Given the description of an element on the screen output the (x, y) to click on. 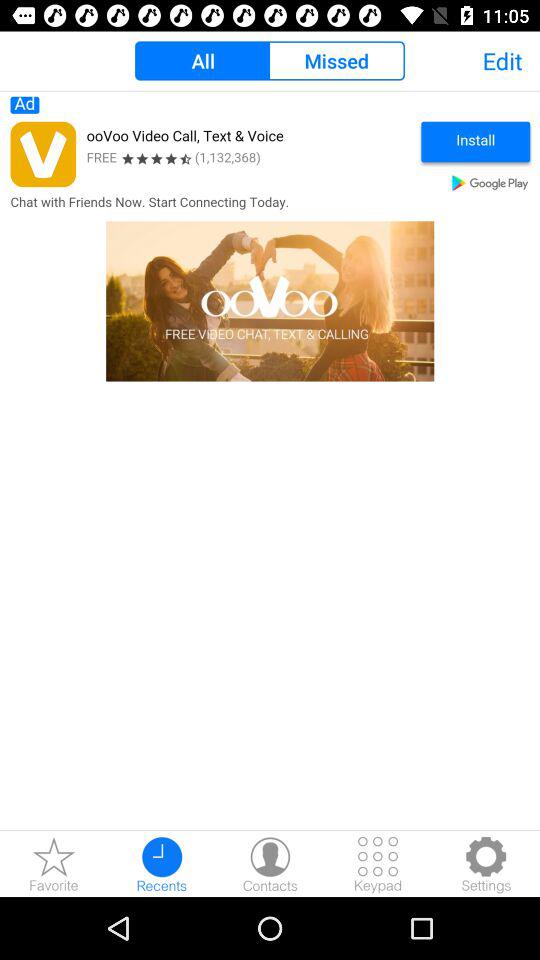
keypad open (377, 864)
